Given the description of an element on the screen output the (x, y) to click on. 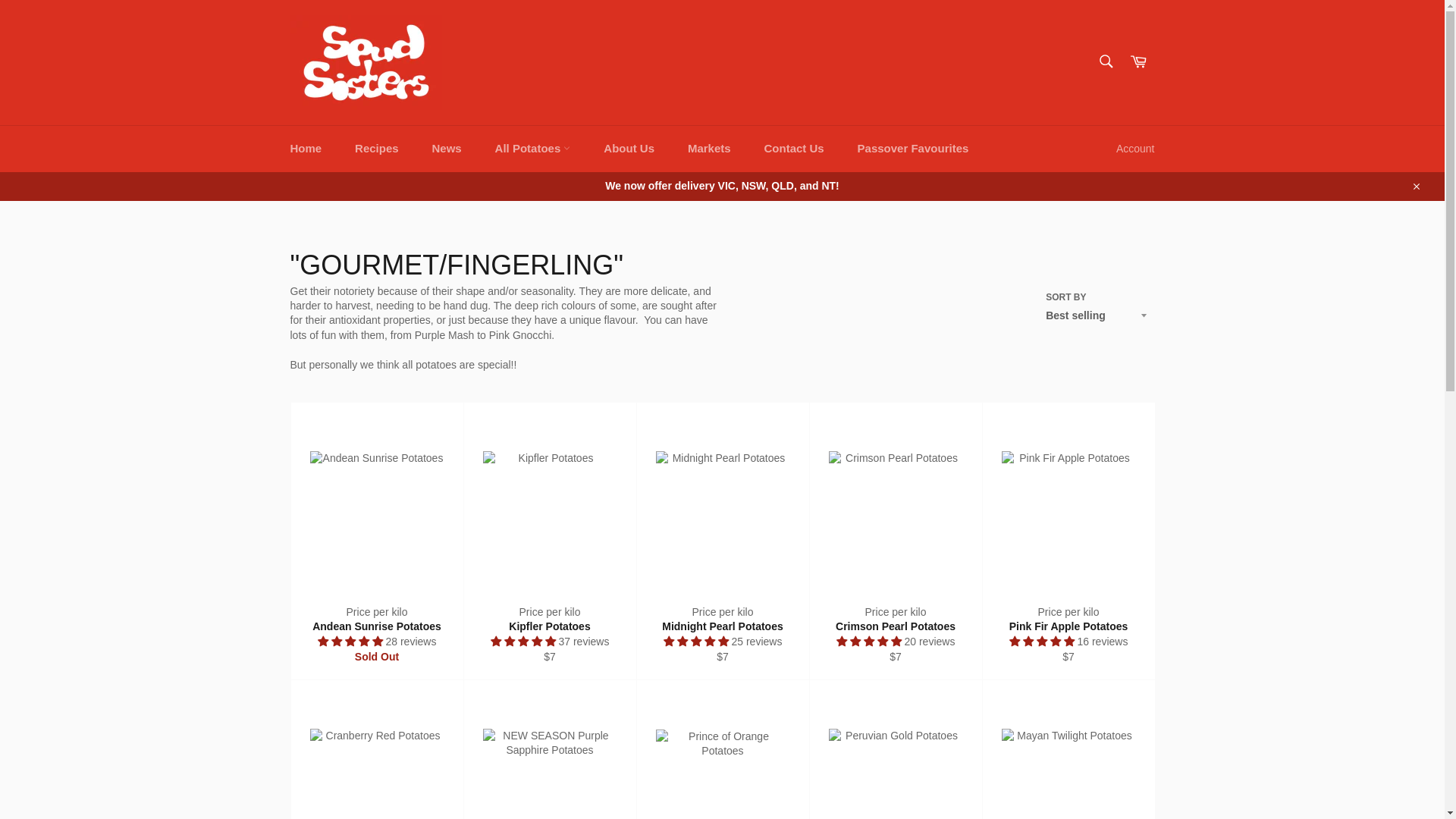
Home (305, 148)
Markets (708, 148)
About Us (628, 148)
Account (1134, 148)
News (446, 148)
Contact Us (794, 148)
Cart (1138, 62)
Passover Favourites (913, 148)
All Potatoes (533, 148)
Search (1104, 60)
Recipes (376, 148)
